Given the description of an element on the screen output the (x, y) to click on. 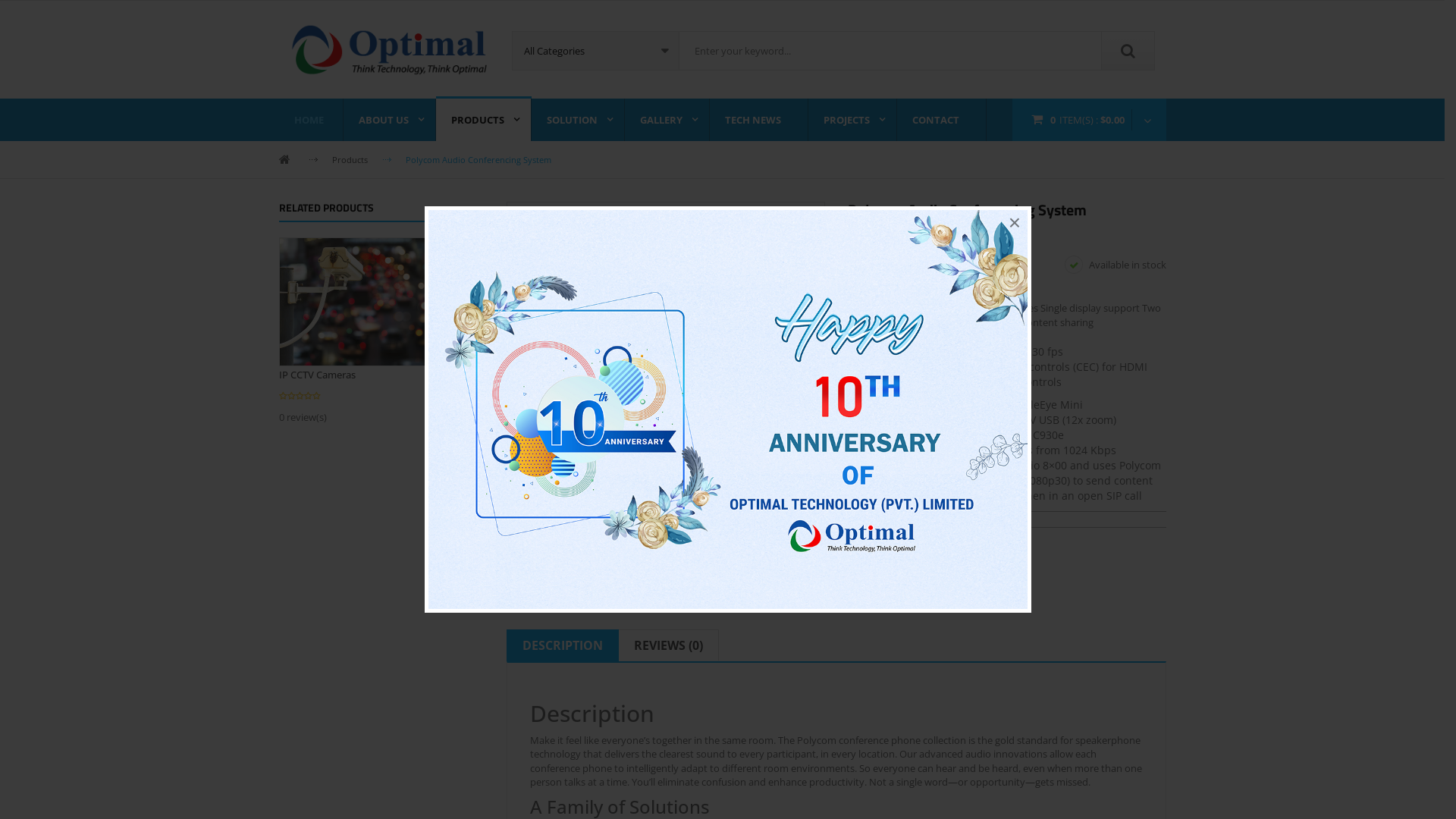
Search Element type: hover (1127, 50)
GALLERY Element type: text (666, 119)
IP CCTV Cameras Element type: hover (373, 300)
IP CCTV Cameras Element type: text (317, 374)
0 Review(s) Element type: text (915, 233)
CONTACT Element type: text (940, 119)
Products Element type: text (349, 159)
ABOUT US Element type: text (388, 119)
TECH NEWS Element type: text (758, 119)
REVIEWS (0) Element type: text (668, 645)
Polycom_Audio4.jpg Element type: hover (664, 288)
DESCRIPTION Element type: text (561, 645)
PRODUCTS Element type: text (482, 119)
0ITEM(S) : $0.00 Element type: text (1088, 119)
HOME Element type: text (311, 119)
PROJECTS Element type: text (852, 119)
SOLUTION Element type: text (577, 119)
